Given the description of an element on the screen output the (x, y) to click on. 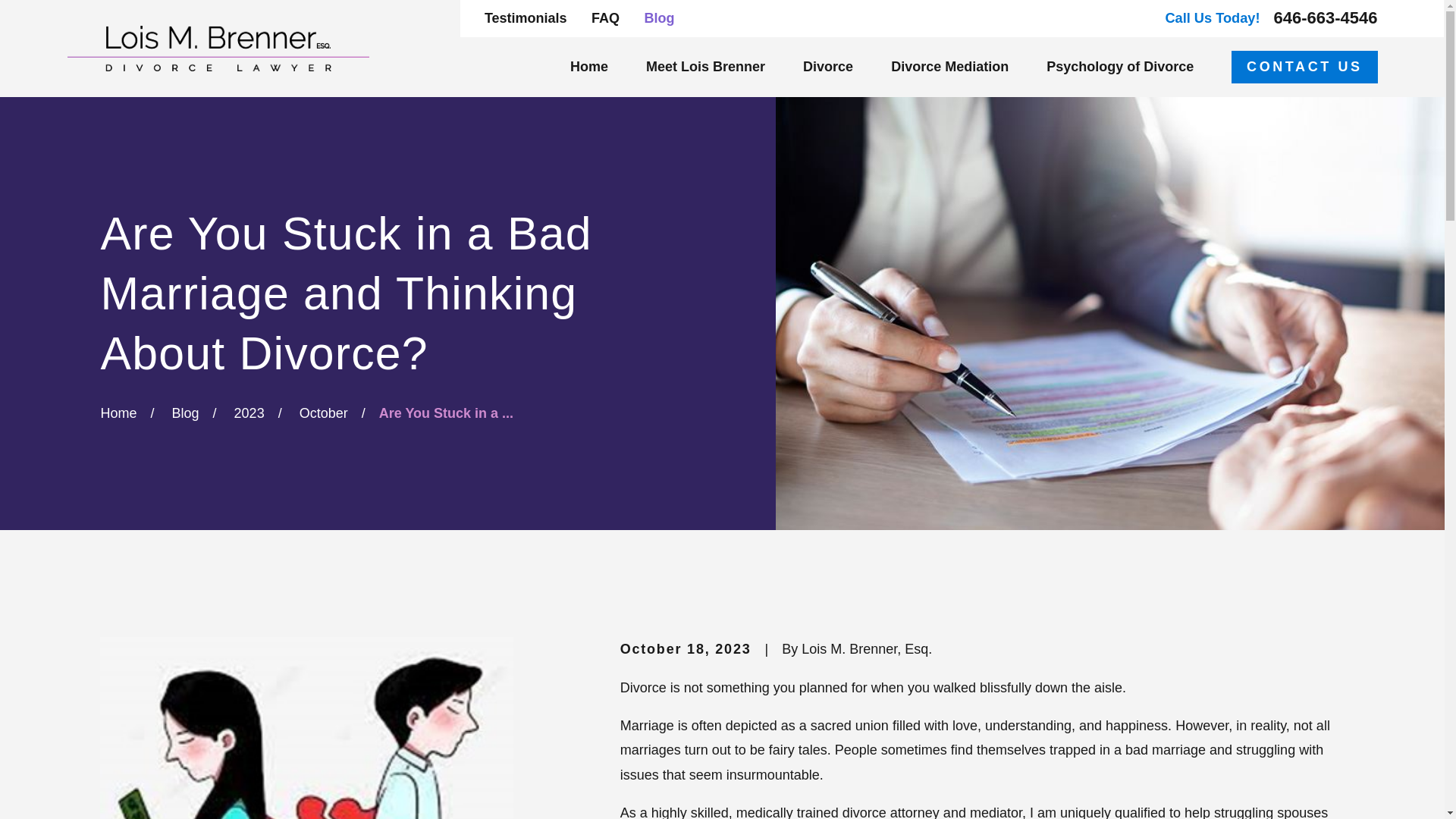
Divorce (828, 66)
Blog (658, 17)
Divorce Mediation (950, 66)
646-663-4546 (1325, 17)
Testimonials (525, 17)
Go Home (118, 412)
Home (217, 48)
FAQ (605, 17)
Home (589, 66)
Meet Lois Brenner (705, 66)
Psychology of Divorce (1119, 66)
